Given the description of an element on the screen output the (x, y) to click on. 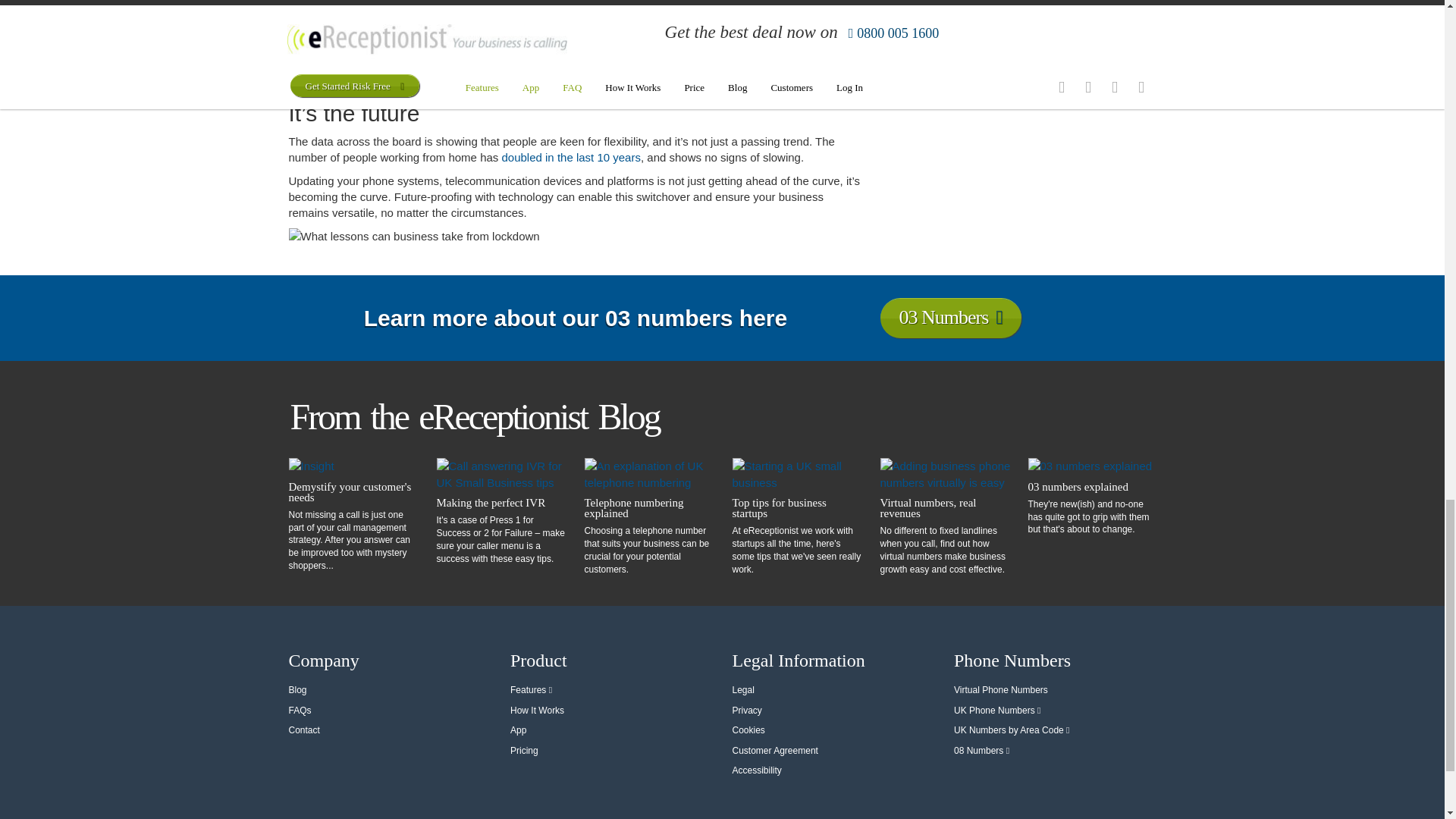
What lessons can business take from lockdown - eReV (574, 236)
Virtual numbers, real revenues (944, 507)
03 Numbers (949, 317)
Making the perfect IVR (501, 502)
Top tips for business startups (797, 507)
doubled in the last 10 years (570, 156)
Demystify your customer's needs (353, 491)
Telephone numbering explained (648, 507)
